Given the description of an element on the screen output the (x, y) to click on. 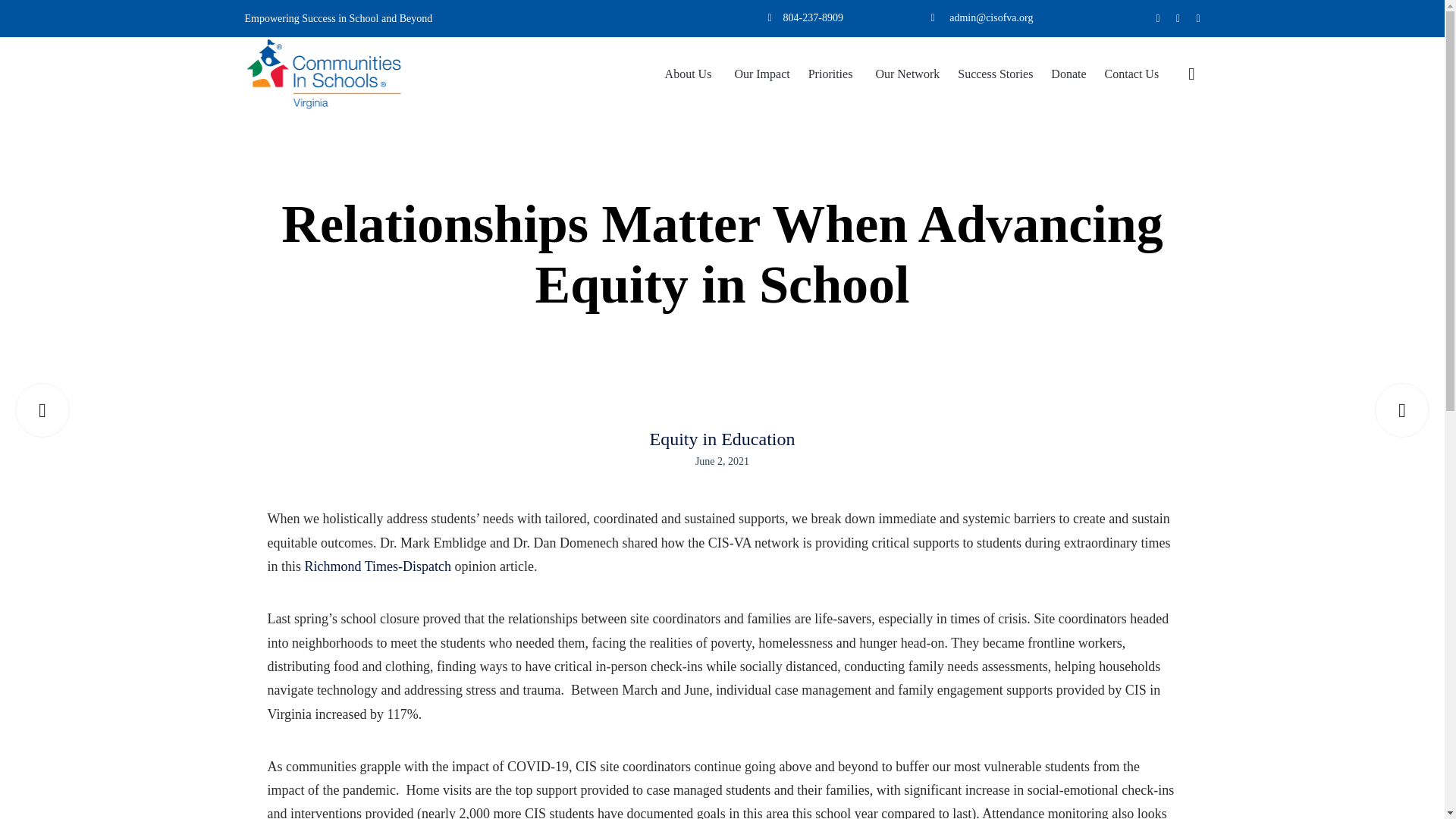
Our Network (907, 74)
Equity in Education (721, 439)
Our Impact (761, 74)
Priorities (832, 74)
Richmond Times-Dispatch (377, 566)
Contact Us (1132, 74)
Donate (1068, 74)
Communities In Schools of Virginia (323, 73)
Success Stories (995, 74)
About Us (690, 74)
